Given the description of an element on the screen output the (x, y) to click on. 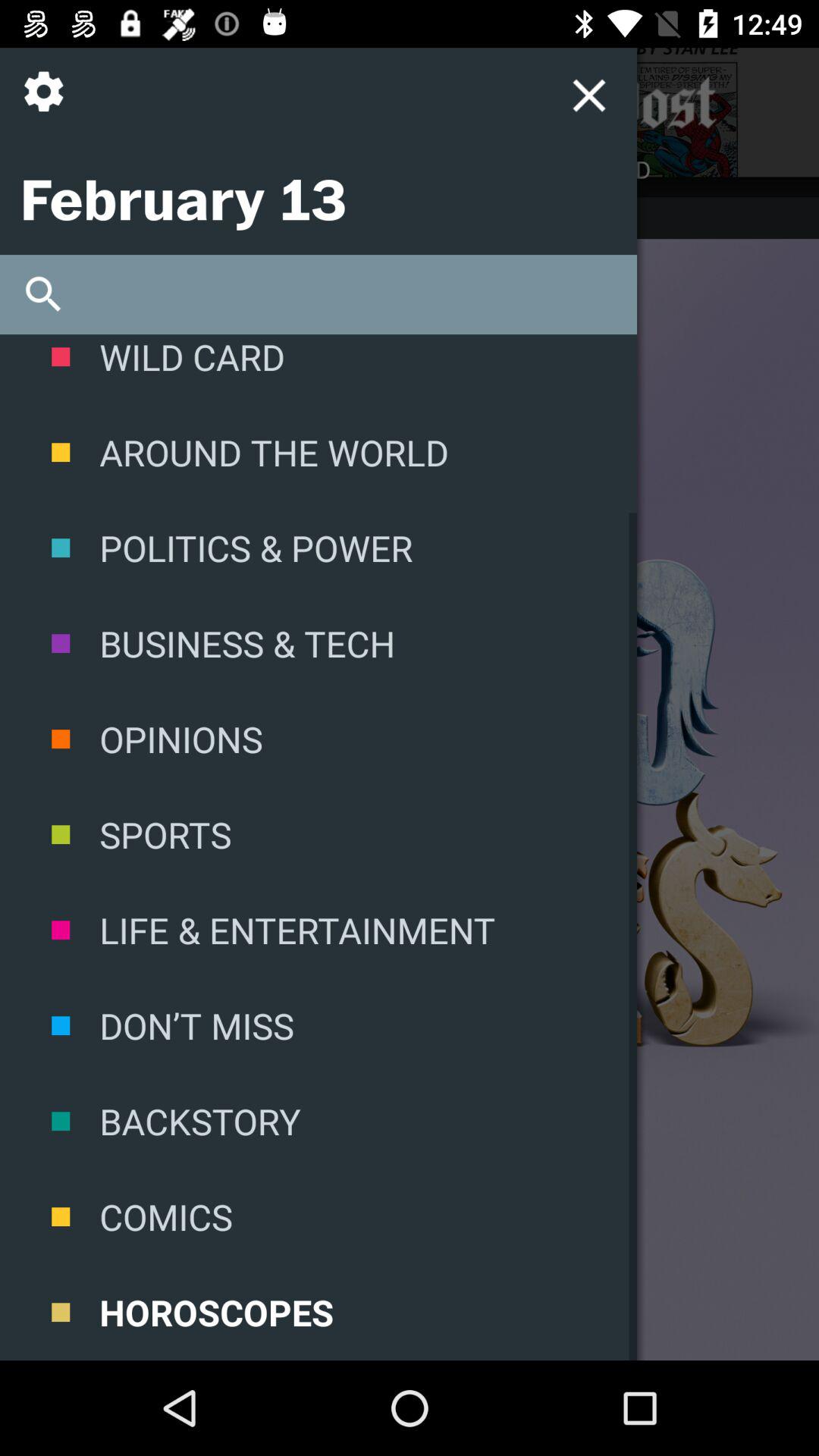
turn off the app above sports (318, 739)
